Given the description of an element on the screen output the (x, y) to click on. 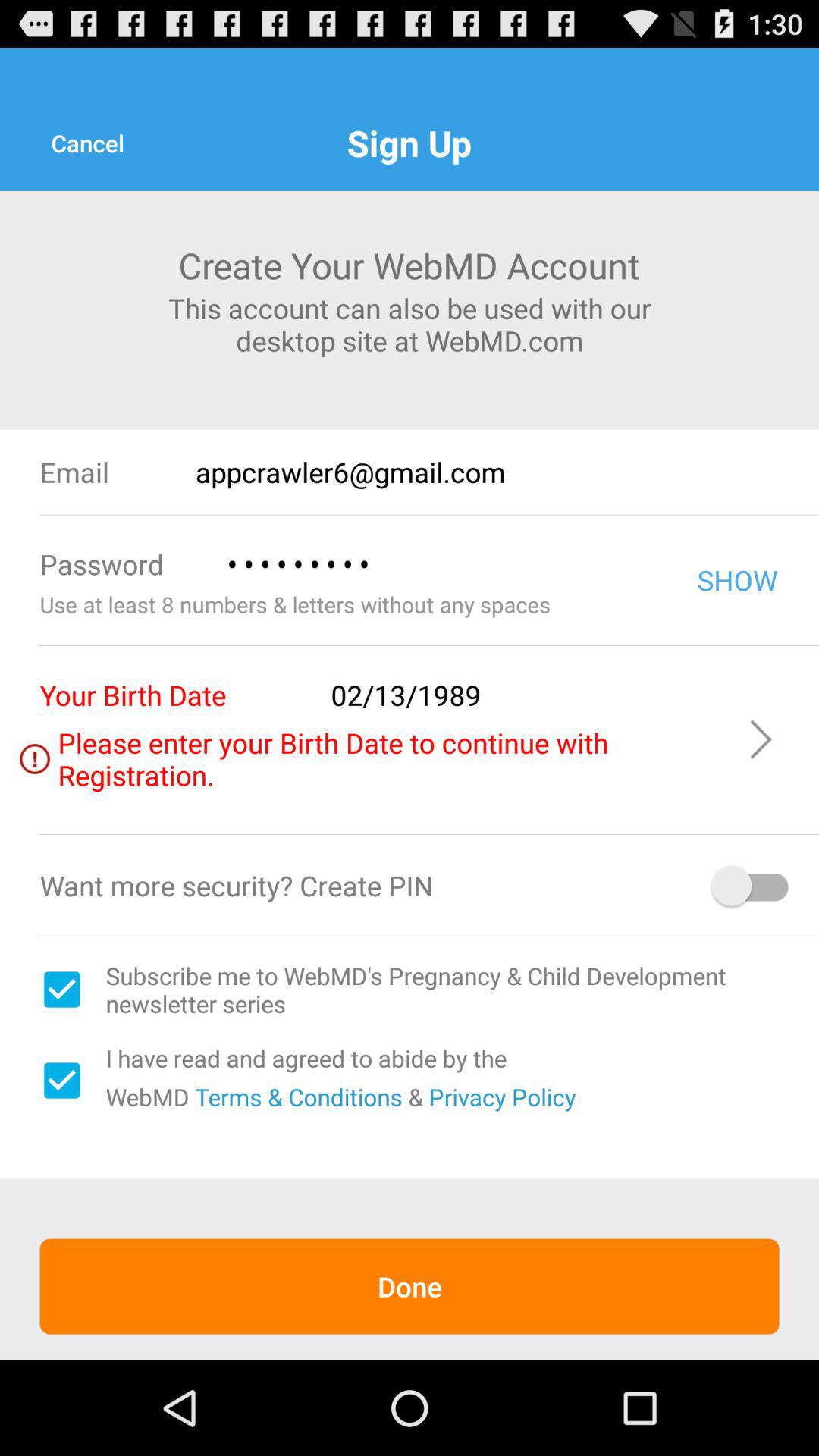
choose icon next to show (439, 564)
